Given the description of an element on the screen output the (x, y) to click on. 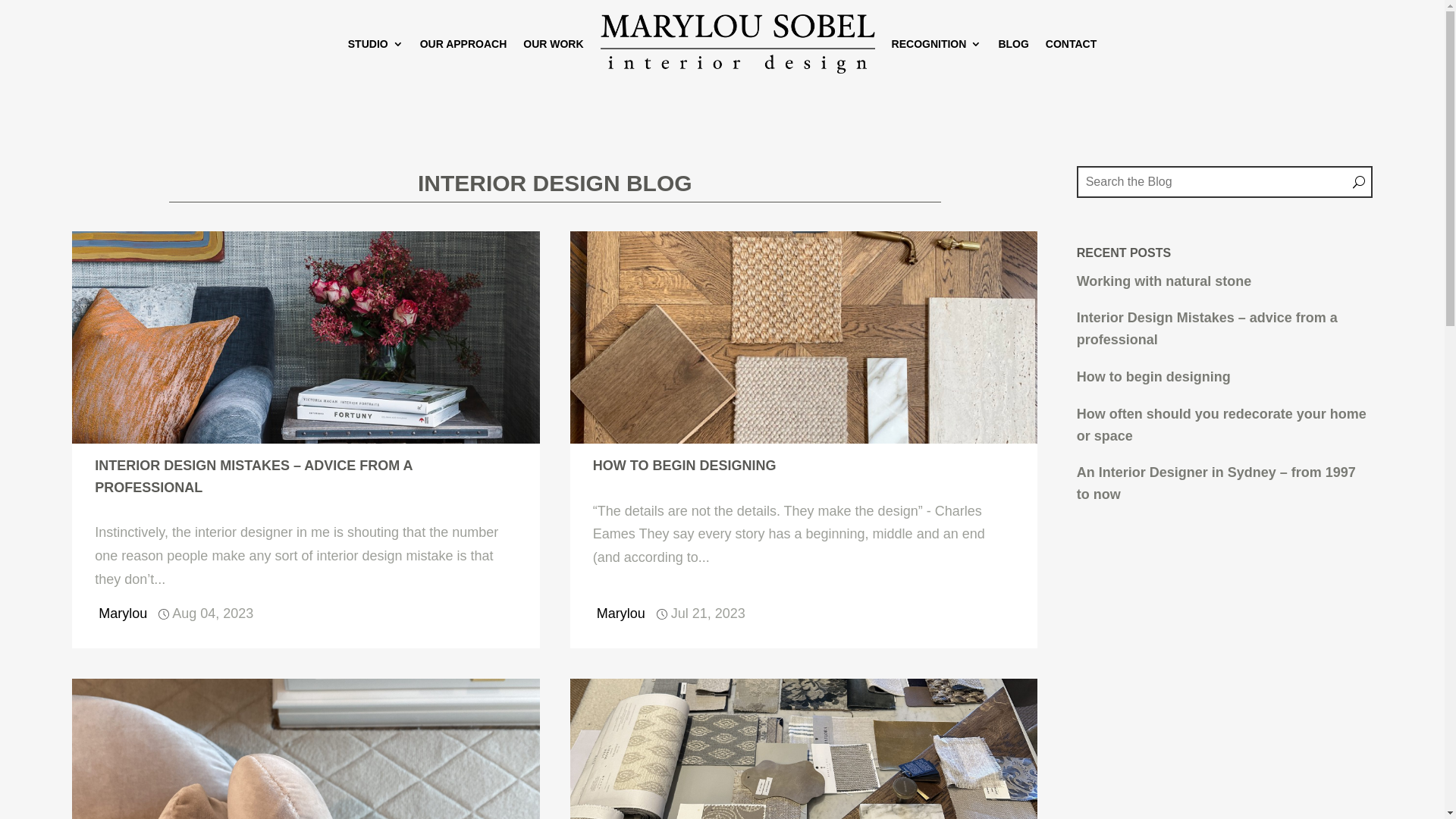
HOW TO BEGIN DESIGNING Element type: text (684, 465)
Marylou Element type: text (122, 613)
CONTACT Element type: text (1070, 43)
How often should you redecorate your home or space Element type: text (1221, 424)
BLOG Element type: text (1012, 43)
Working with natural stone Element type: text (1164, 280)
STUDIO Element type: text (375, 43)
How to begin designing Element type: text (1153, 376)
OUR APPROACH Element type: text (463, 43)
Marylou Element type: text (620, 613)
OUR WORK Element type: text (553, 43)
RECOGNITION Element type: text (936, 43)
